Given the description of an element on the screen output the (x, y) to click on. 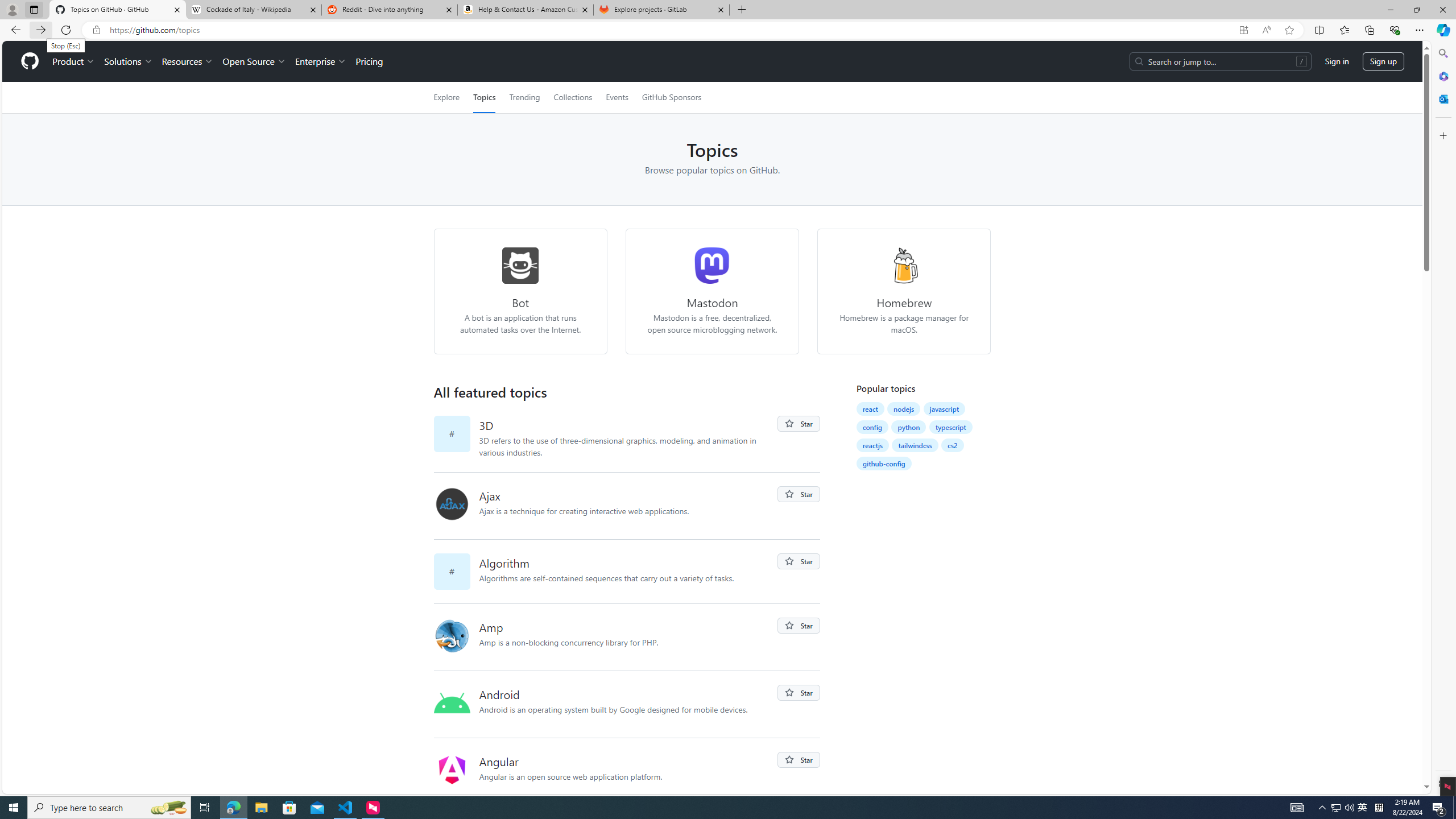
tailwindcss (915, 445)
Microsoft 365 (1442, 76)
Explore (446, 97)
python (909, 426)
Pricing (368, 60)
HomebrewHomebrew is a package manager for macOS. (904, 291)
reactjs (872, 445)
github-config (883, 463)
bot (520, 265)
Angular Angular is an open source web application platform. (628, 771)
